Given the description of an element on the screen output the (x, y) to click on. 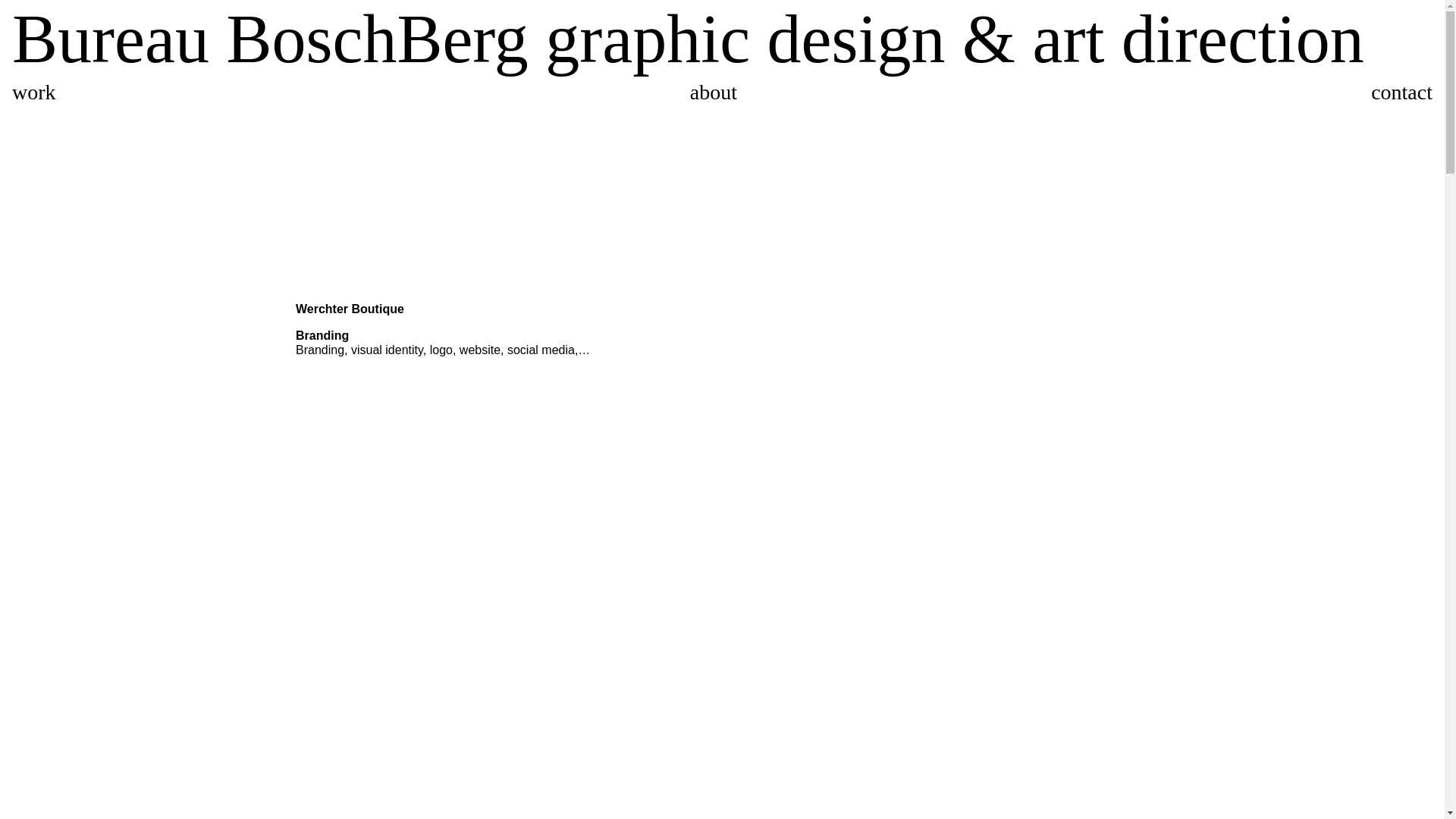
work Element type: text (34, 91)
contact Element type: text (1401, 91)
Skip to content Element type: text (0, 0)
about Element type: text (713, 91)
